Given the description of an element on the screen output the (x, y) to click on. 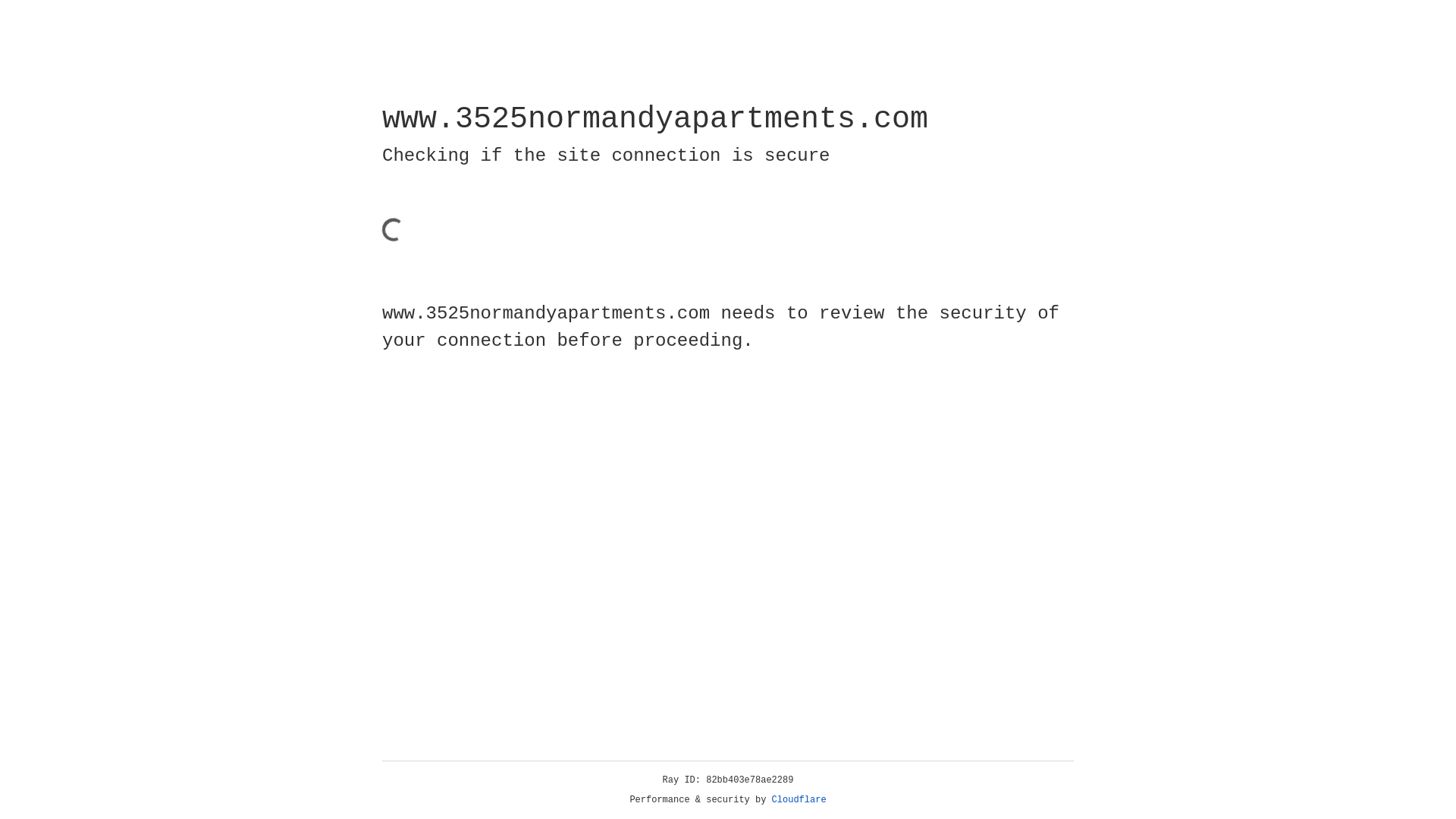
Cloudflare Element type: text (798, 799)
